Given the description of an element on the screen output the (x, y) to click on. 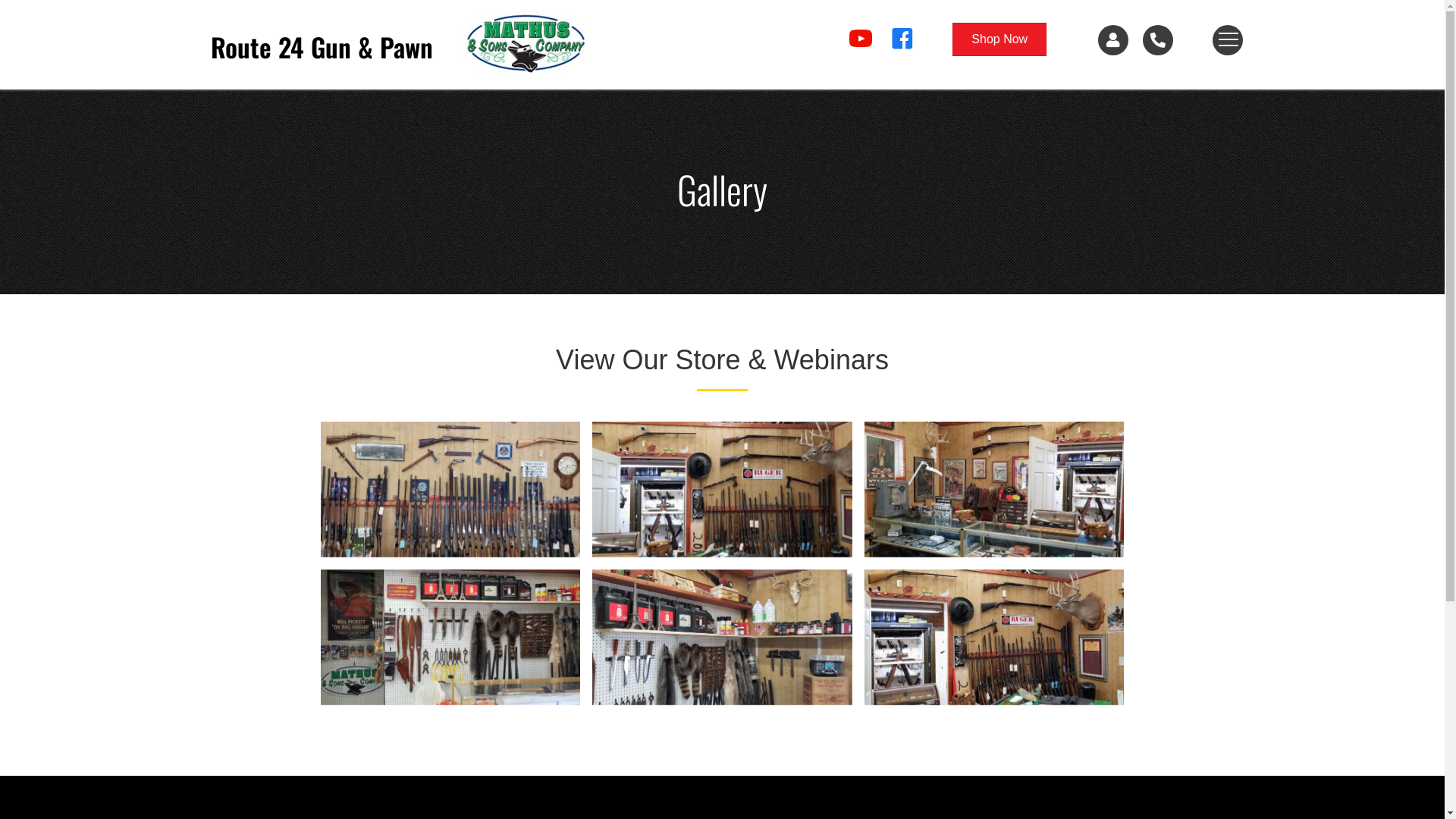
Route 24 Gun & Pawn Element type: hover (450, 489)
Route 24 Gun & Pawn Element type: hover (994, 637)
Route 24 Gun & Pawn Element type: hover (722, 637)
Route 24 Gun & Pawn Element type: hover (450, 637)
Shop Now Element type: text (999, 39)
Route 24 Gun & Pawn Element type: hover (722, 489)
Route 24 Gun & Pawn Element type: hover (524, 42)
Route 24 Gun & Pawn Element type: hover (994, 489)
